Given the description of an element on the screen output the (x, y) to click on. 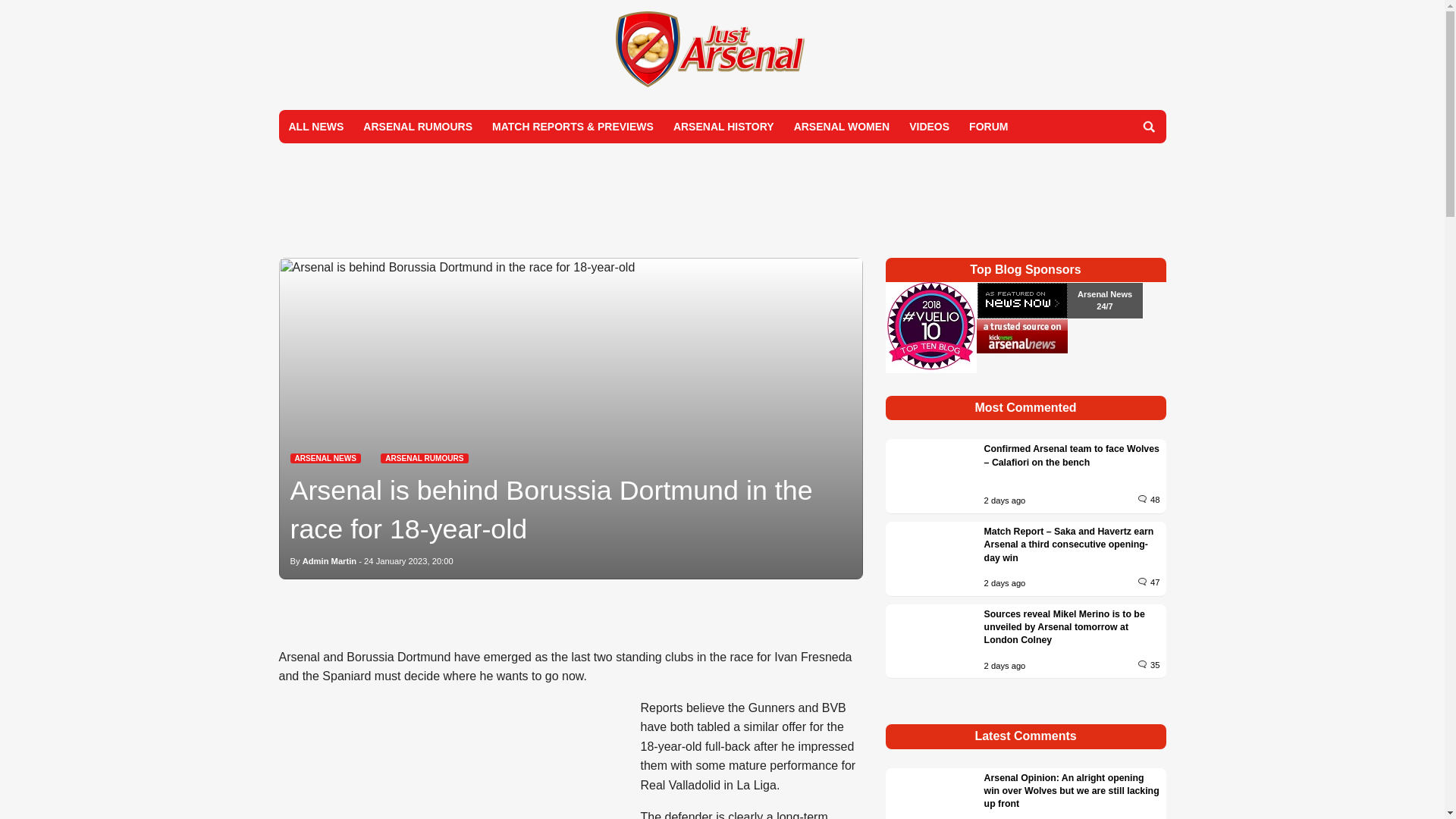
FORUM (988, 126)
Latest Arsenal Rumours News (423, 458)
Search (1147, 126)
ARSENAL WOMEN (841, 126)
ARSENAL RUMOURS (417, 126)
Admin Martin (329, 560)
ARSENAL HISTORY (723, 126)
ARSENAL RUMOURS (423, 458)
24 January 2023, 20:00 (408, 560)
